Given the description of an element on the screen output the (x, y) to click on. 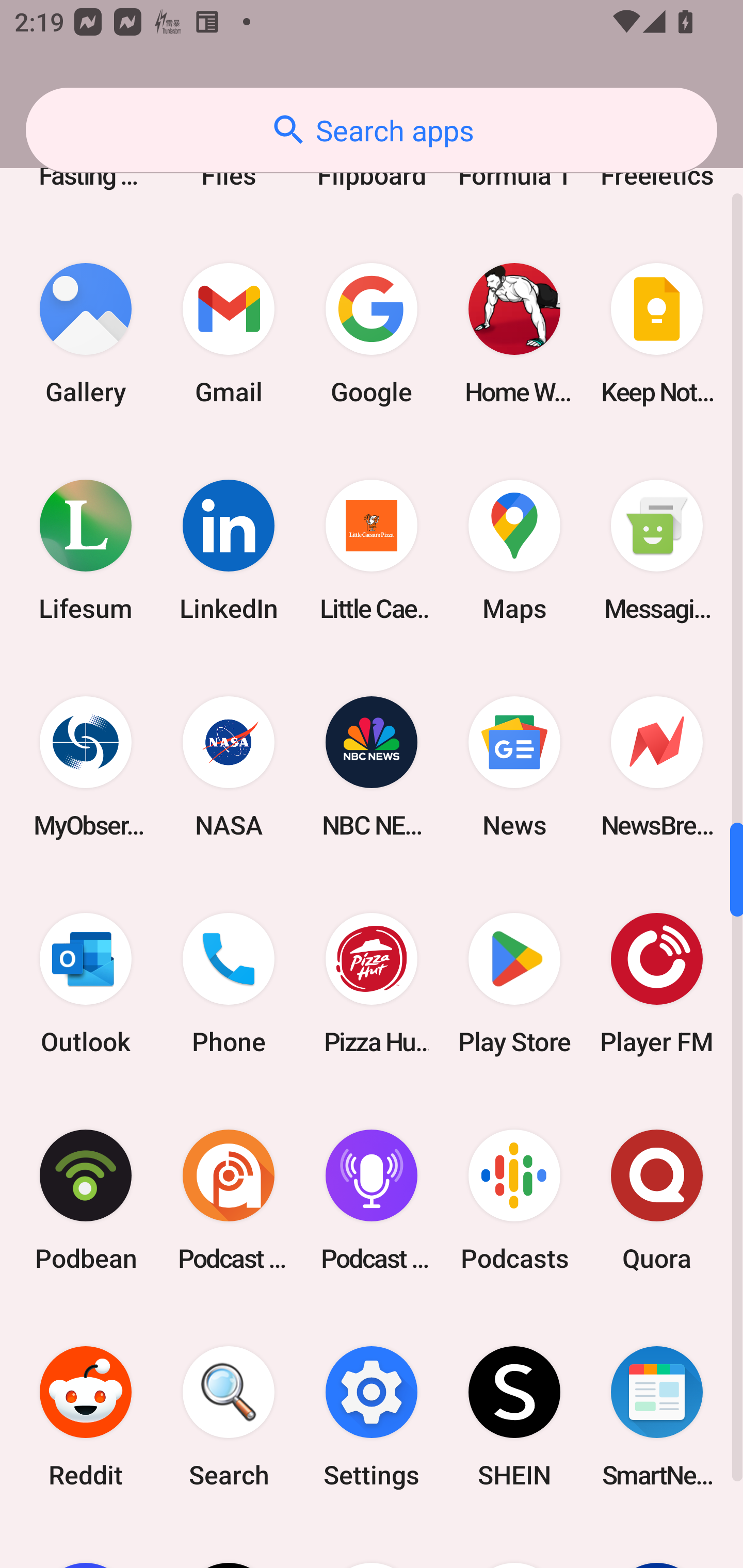
  Search apps (371, 130)
Gallery (85, 333)
Gmail (228, 333)
Google (371, 333)
Home Workout (514, 333)
Keep Notes (656, 333)
Lifesum (85, 550)
LinkedIn (228, 550)
Little Caesars Pizza (371, 550)
Maps (514, 550)
Messaging (656, 550)
MyObservatory (85, 766)
NASA (228, 766)
NBC NEWS (371, 766)
News (514, 766)
NewsBreak (656, 766)
Outlook (85, 982)
Phone (228, 982)
Pizza Hut HK & Macau (371, 982)
Play Store (514, 982)
Player FM (656, 982)
Podbean (85, 1200)
Podcast Addict (228, 1200)
Podcast Player (371, 1200)
Podcasts (514, 1200)
Quora (656, 1200)
Reddit (85, 1417)
Search (228, 1417)
Settings (371, 1417)
SHEIN (514, 1417)
SmartNews (656, 1417)
